Given the description of an element on the screen output the (x, y) to click on. 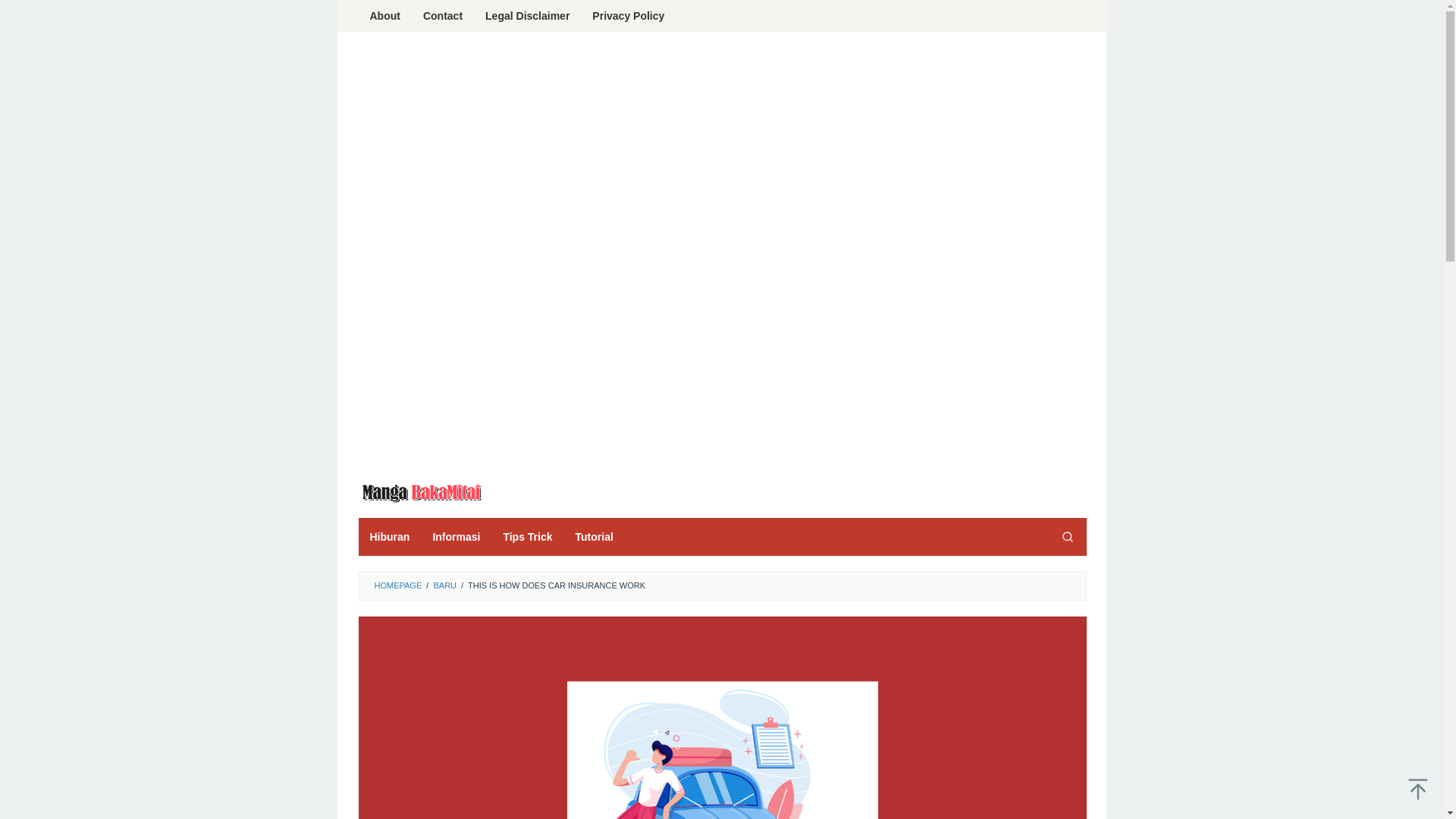
HOMEPAGE (398, 584)
Manga Bakamitai (420, 492)
Manga Bakamitai (420, 491)
Tutorial (594, 536)
Informasi (456, 536)
Search (1067, 536)
About (384, 15)
Legal Disclaimer (527, 15)
BARU (444, 584)
Hiburan (389, 536)
Tips Trick (527, 536)
